Given the description of an element on the screen output the (x, y) to click on. 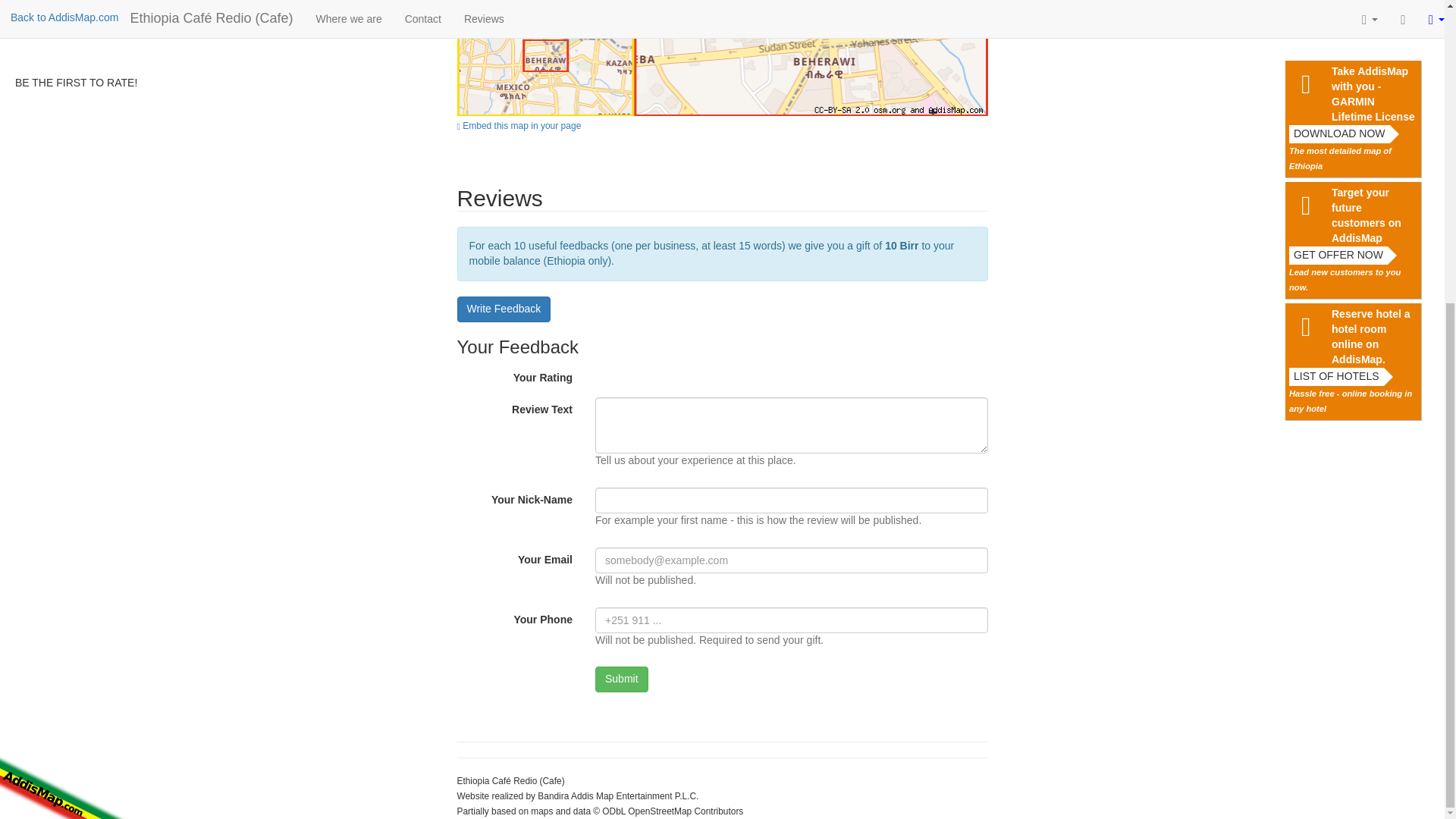
Write Feedback (503, 309)
Embed this map in your page (722, 124)
Submit (621, 679)
Submit (621, 679)
